Given the description of an element on the screen output the (x, y) to click on. 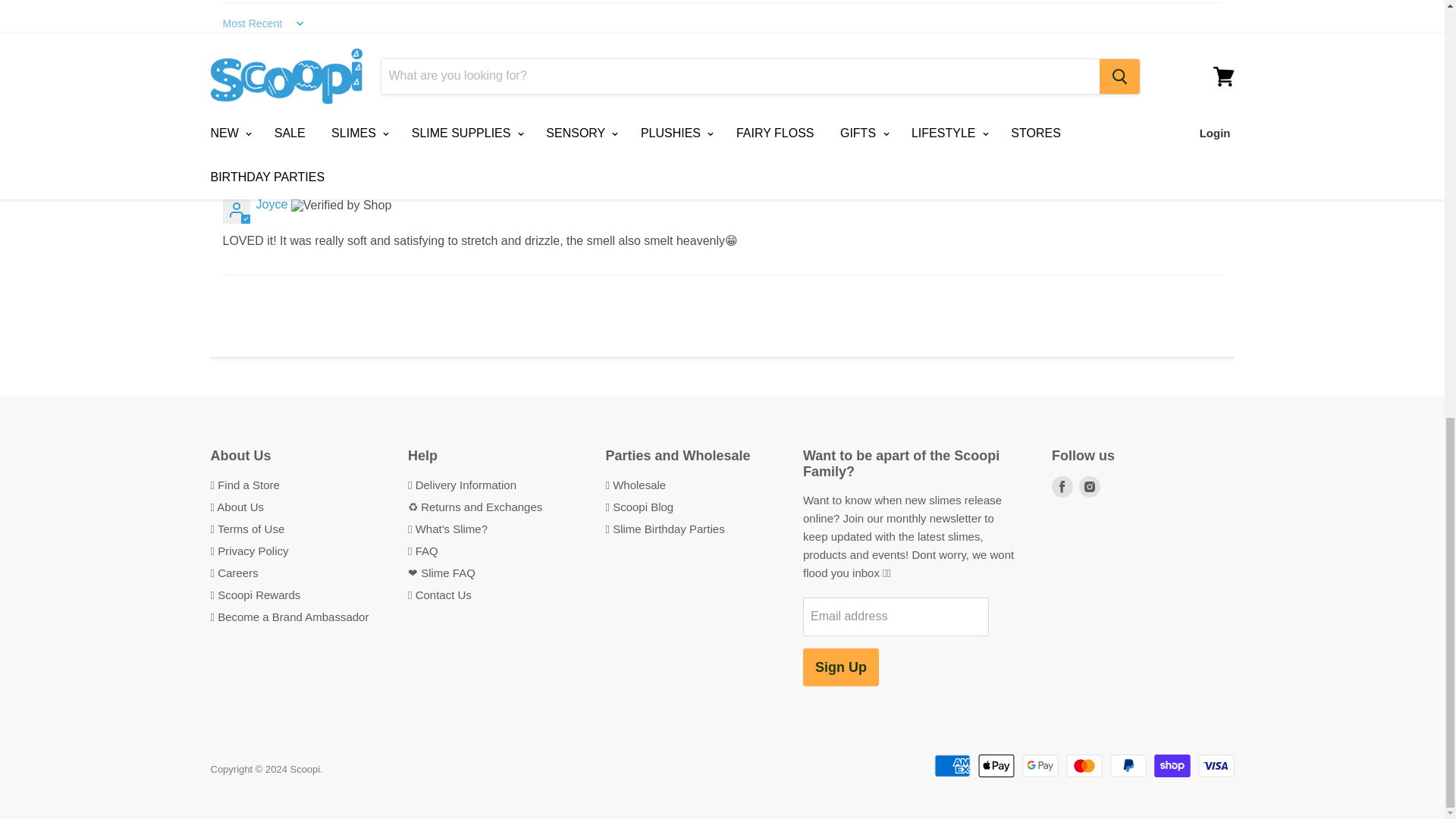
Instagram (1089, 486)
Apple Pay (996, 765)
American Express (952, 765)
Facebook (1061, 486)
